Given the description of an element on the screen output the (x, y) to click on. 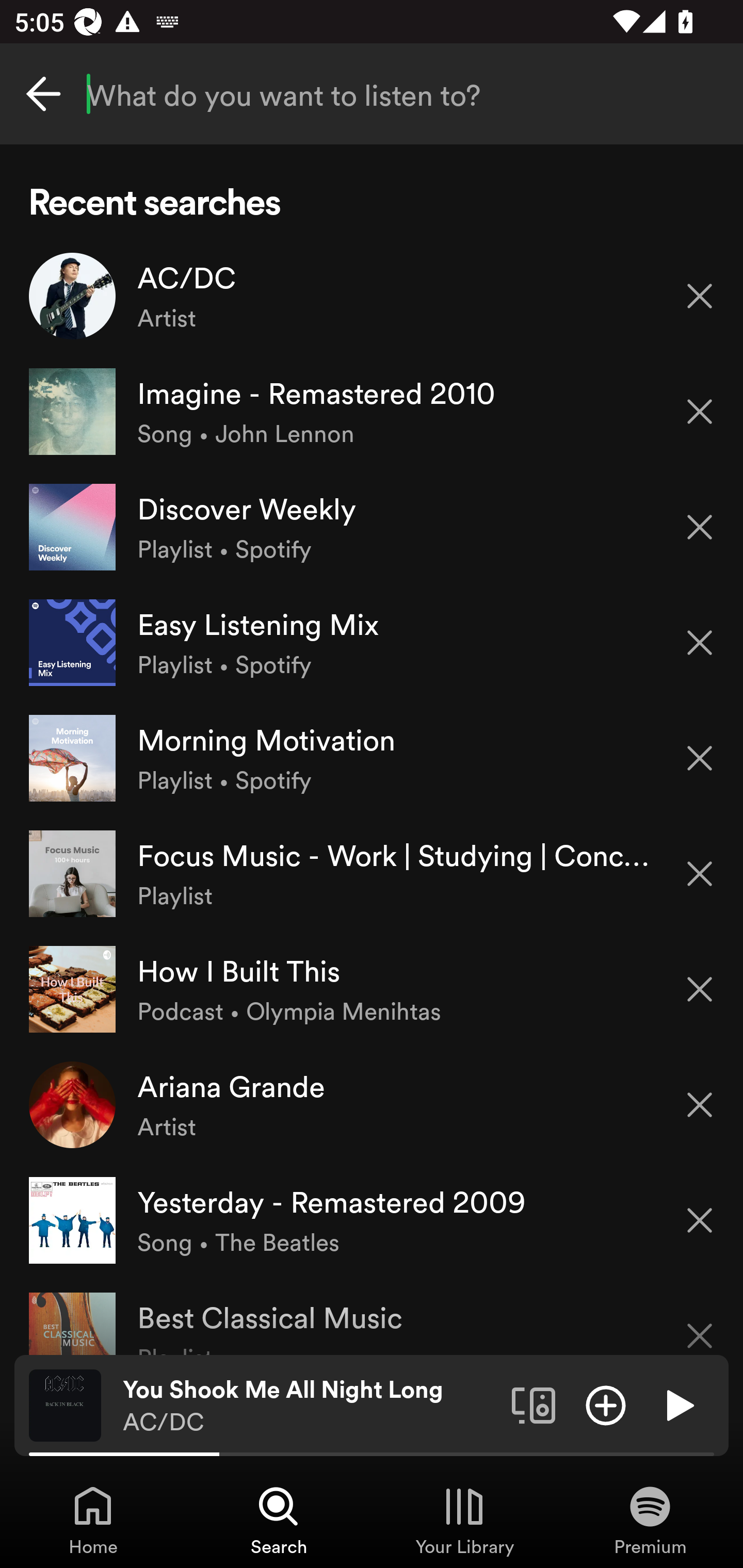
What do you want to listen to? (371, 93)
Cancel (43, 93)
AC/DC Artist Remove (371, 296)
Remove (699, 295)
Remove (699, 411)
Discover Weekly Playlist • Spotify Remove (371, 526)
Remove (699, 527)
Easy Listening Mix Playlist • Spotify Remove (371, 642)
Remove (699, 642)
Morning Motivation Playlist • Spotify Remove (371, 757)
Remove (699, 758)
Remove (699, 874)
Remove (699, 989)
Ariana Grande Artist Remove (371, 1104)
Remove (699, 1104)
Remove (699, 1220)
Best Classical Music Playlist Remove (371, 1315)
Remove (699, 1323)
You Shook Me All Night Long AC/DC (309, 1405)
The cover art of the currently playing track (64, 1404)
Connect to a device. Opens the devices menu (533, 1404)
Add item (605, 1404)
Play (677, 1404)
Home, Tab 1 of 4 Home Home (92, 1519)
Search, Tab 2 of 4 Search Search (278, 1519)
Your Library, Tab 3 of 4 Your Library Your Library (464, 1519)
Premium, Tab 4 of 4 Premium Premium (650, 1519)
